Given the description of an element on the screen output the (x, y) to click on. 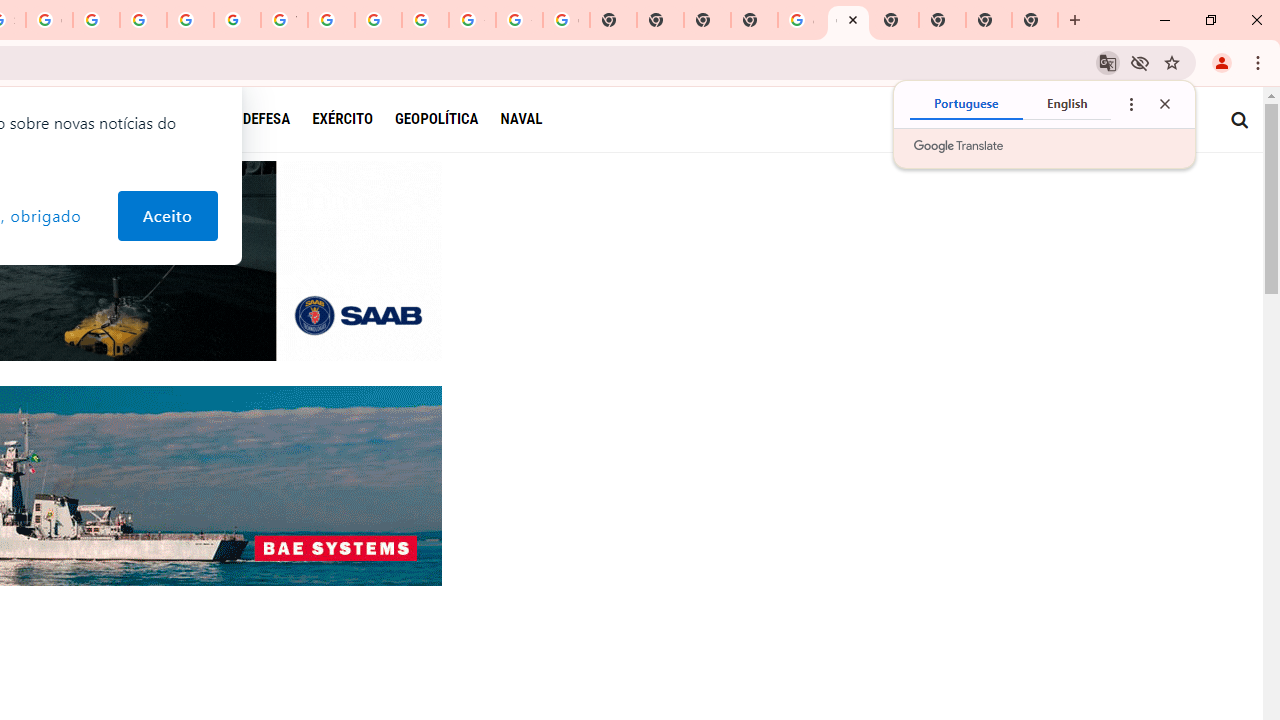
Privacy Help Center - Policies Help (96, 20)
Translate this page (1107, 62)
Privacy Help Center - Policies Help (143, 20)
AutomationID: menu-item-105104 (521, 119)
Google Images (566, 20)
AutomationID: menu-item-104162 (203, 119)
New Tab (1035, 20)
Translate options (1130, 103)
Aceito (166, 215)
